Given the description of an element on the screen output the (x, y) to click on. 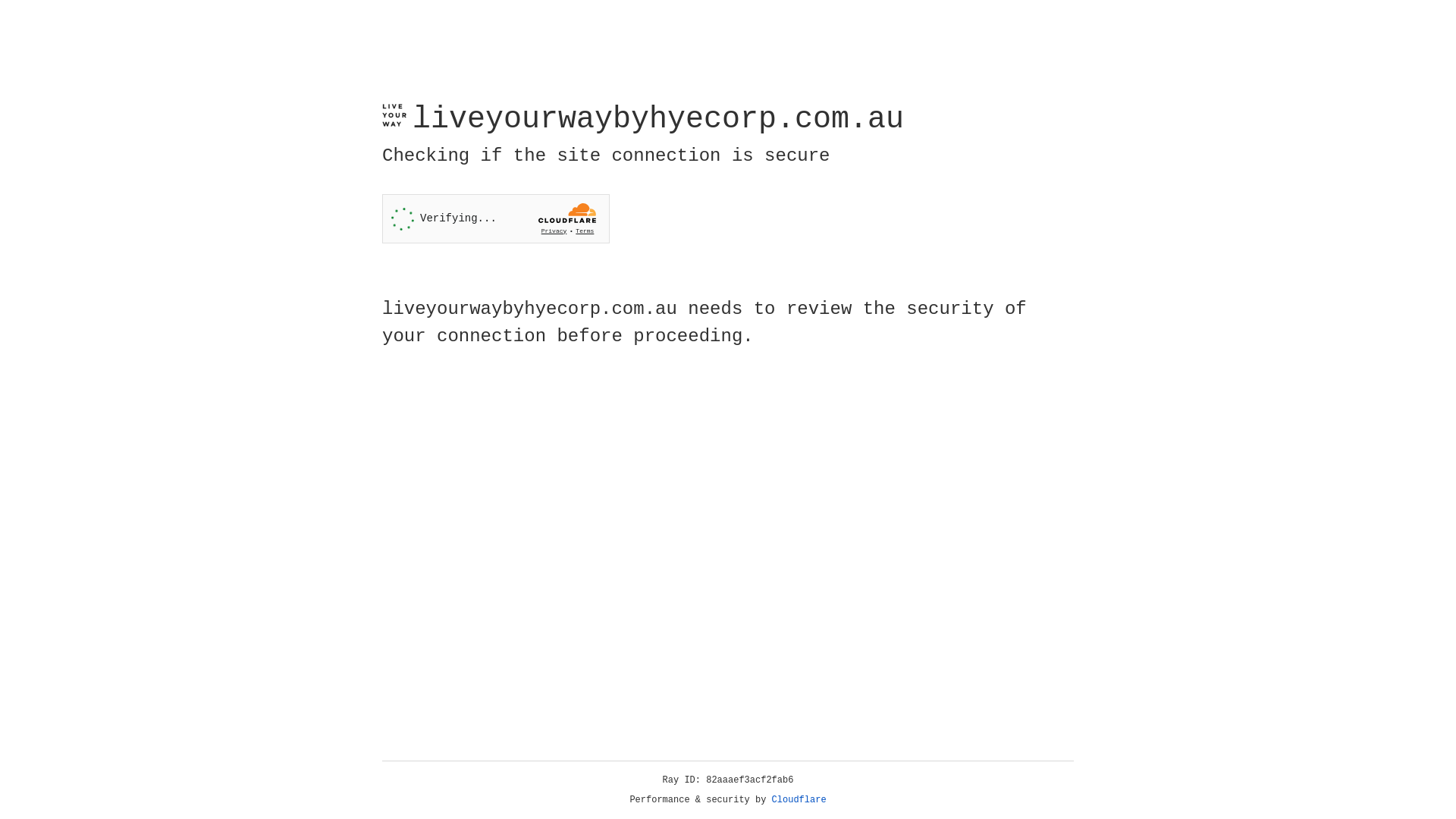
Widget containing a Cloudflare security challenge Element type: hover (495, 218)
Cloudflare Element type: text (798, 799)
